Given the description of an element on the screen output the (x, y) to click on. 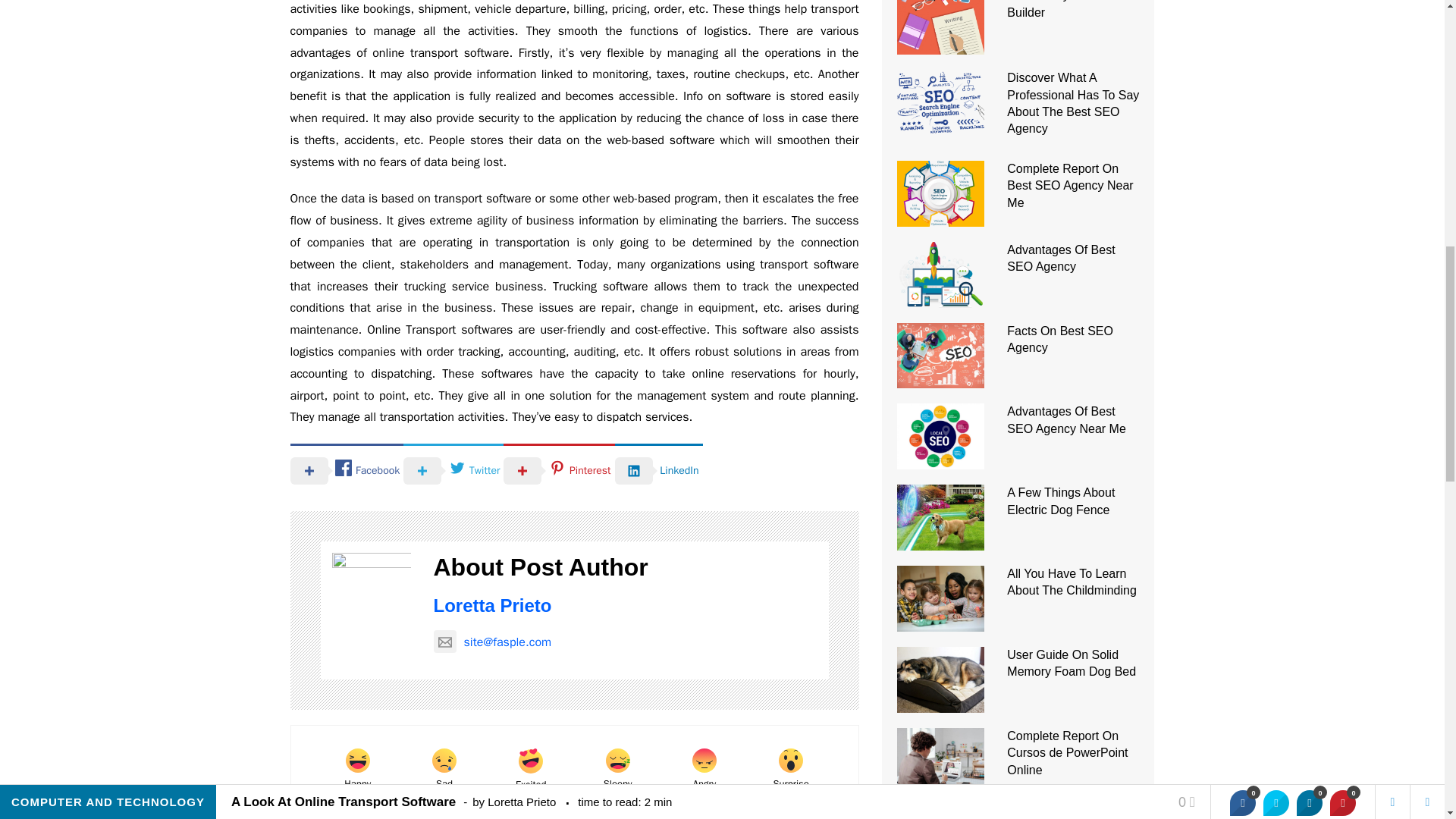
Loretta Prieto (492, 605)
LinkedIn (658, 469)
Twitter (453, 469)
Pinterest (558, 469)
Facebook (346, 469)
